Given the description of an element on the screen output the (x, y) to click on. 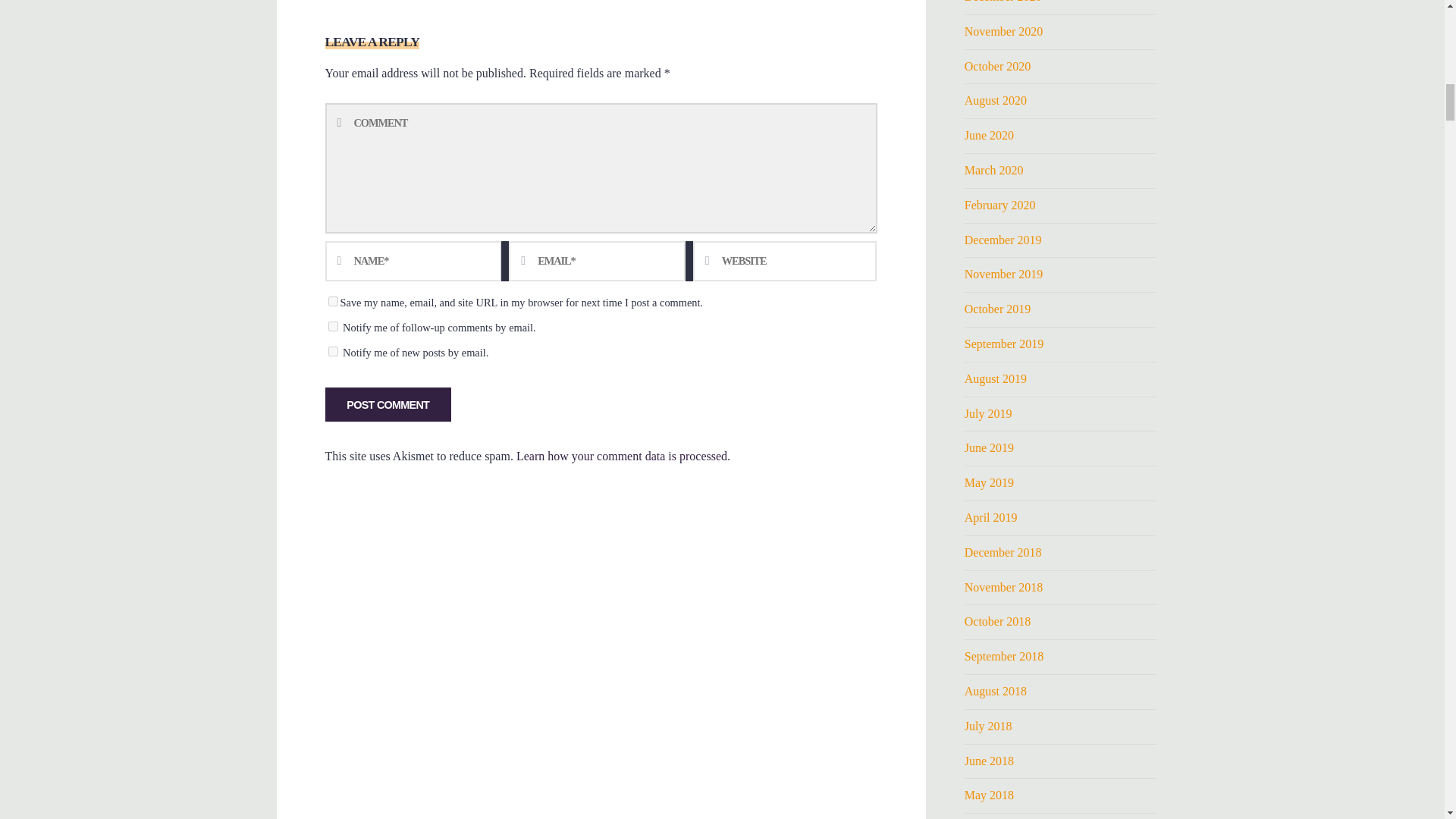
yes (332, 301)
Post Comment (386, 404)
subscribe (332, 326)
subscribe (332, 351)
